Given the description of an element on the screen output the (x, y) to click on. 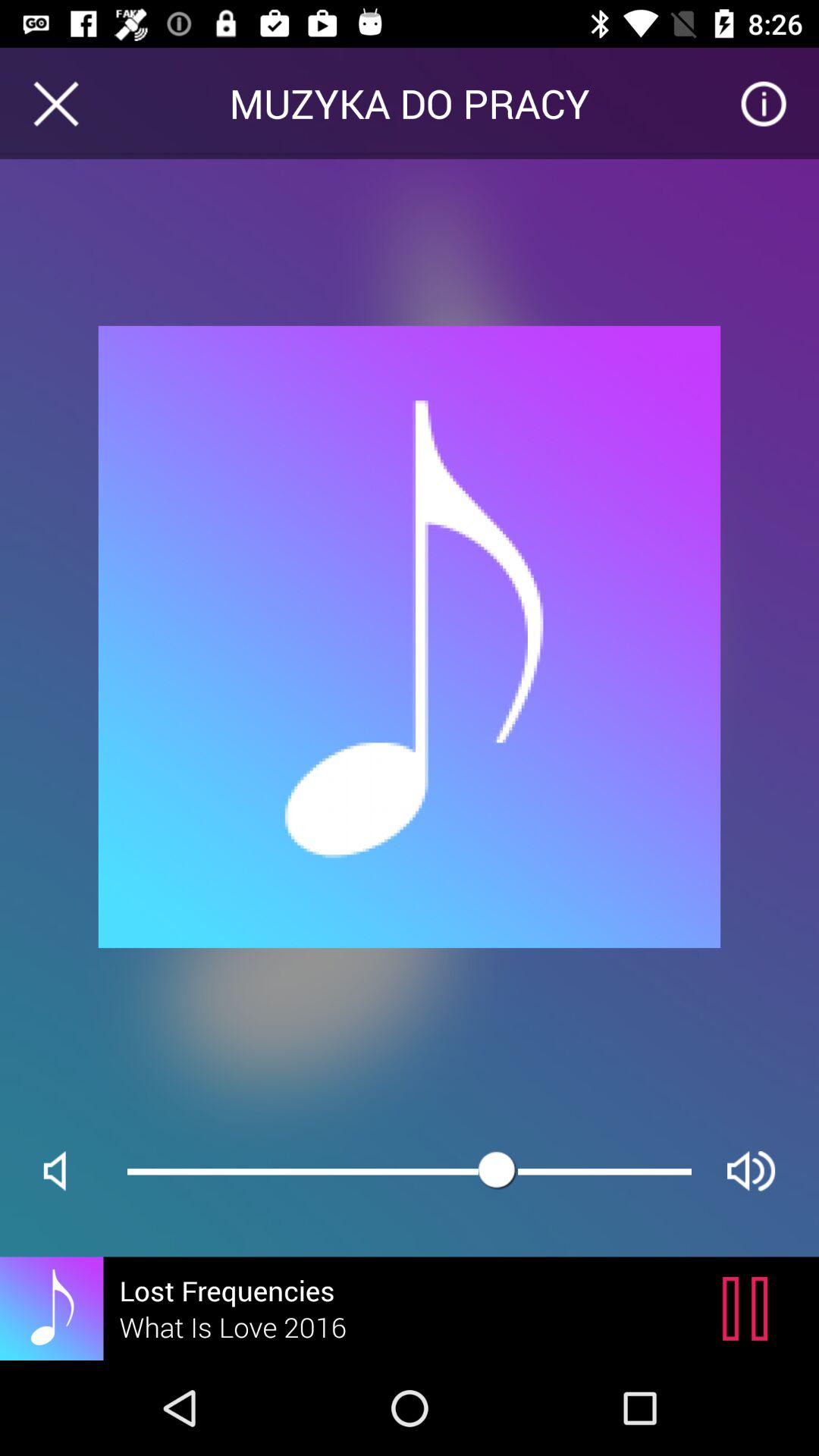
turn off icon at the top left corner (55, 103)
